Given the description of an element on the screen output the (x, y) to click on. 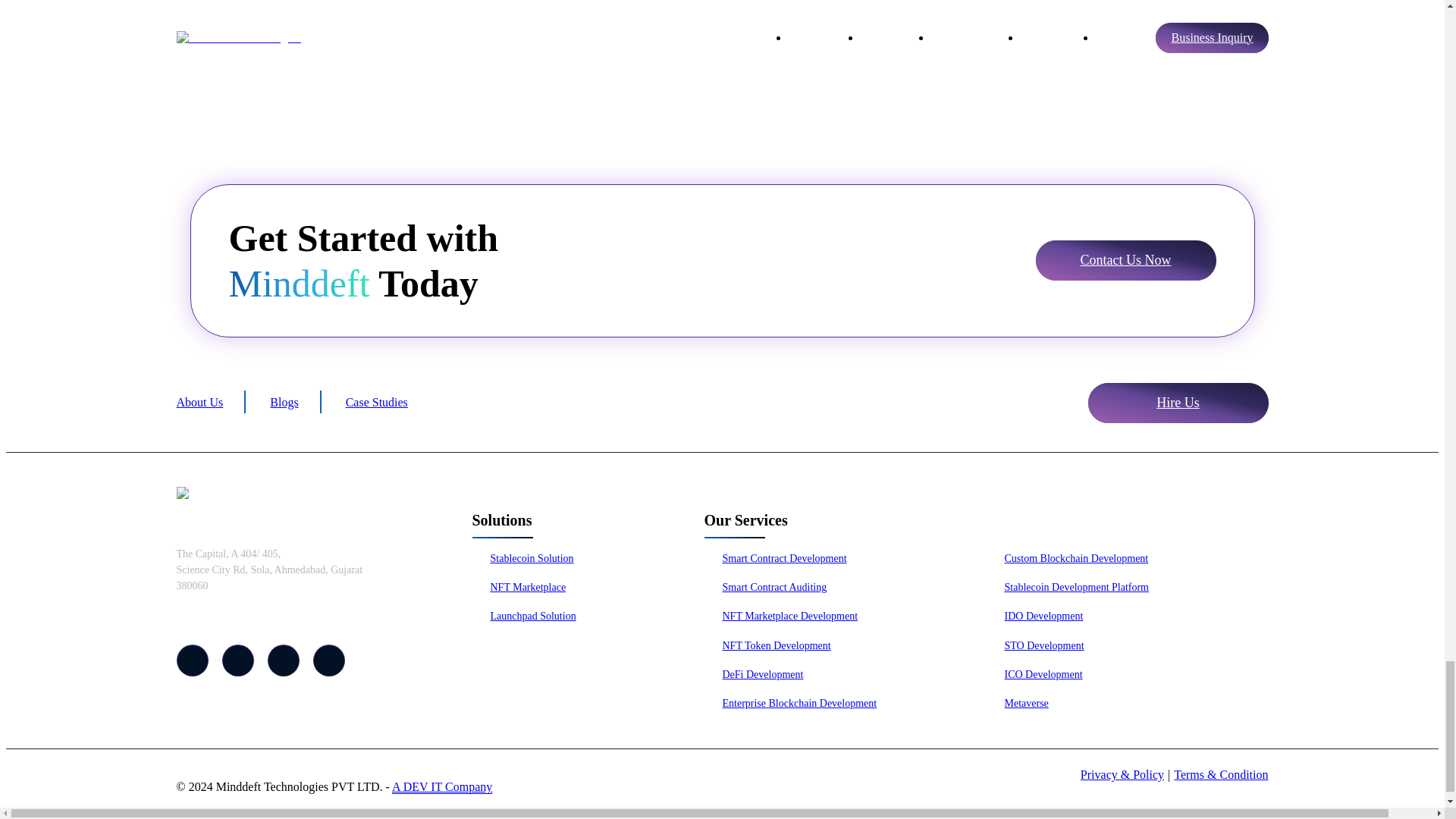
NFT Marketplace (518, 587)
Contact Us Now (1125, 260)
Case Studies (376, 402)
Stablecoin Solution (522, 558)
Launchpad Solution (523, 616)
About Us (199, 402)
Blogs (283, 402)
Hire Us (1177, 403)
